Given the description of an element on the screen output the (x, y) to click on. 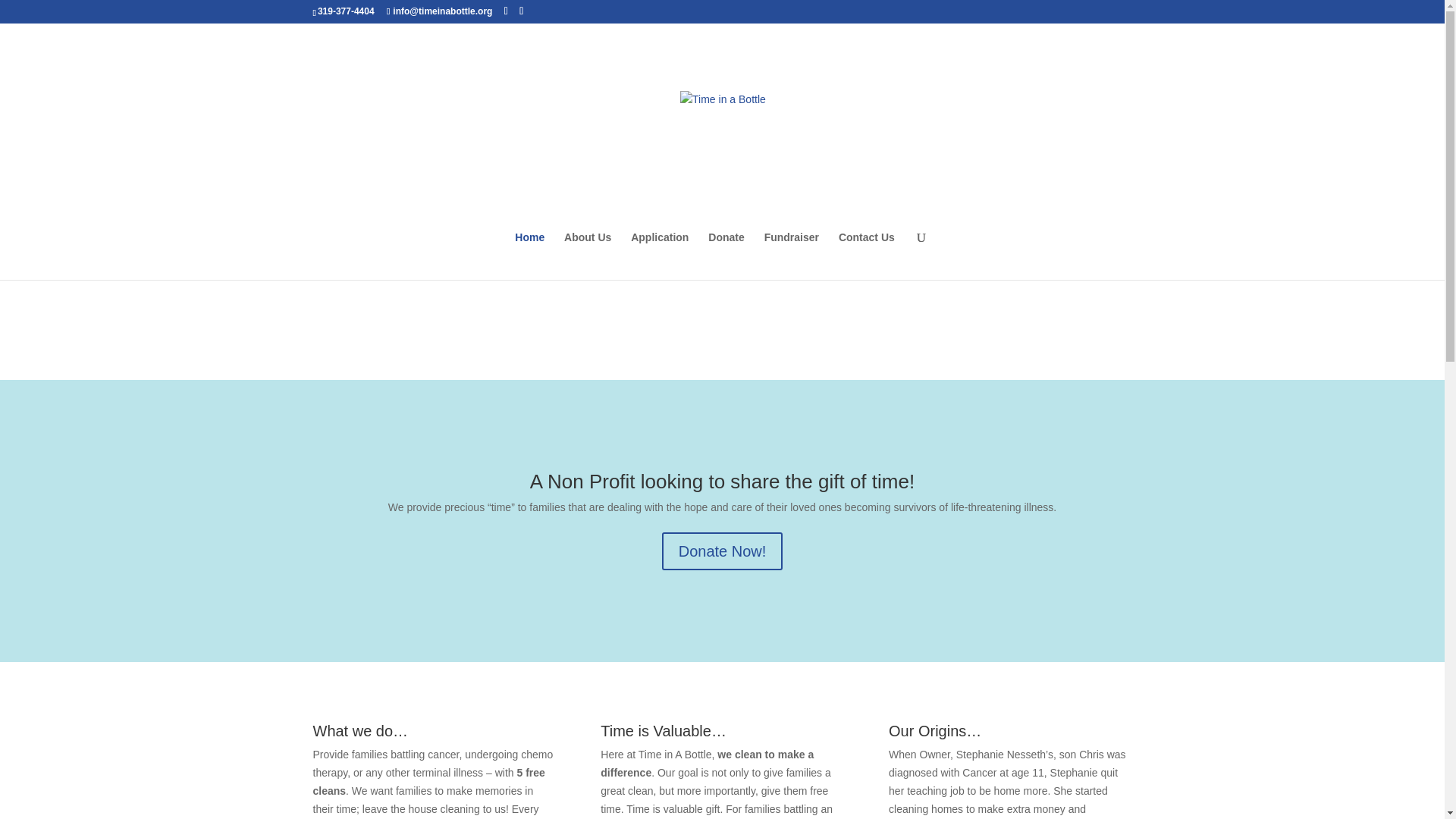
Contact Us (866, 255)
About Us (587, 255)
Fundraiser (791, 255)
Donate Now! (722, 551)
Application (659, 255)
